Given the description of an element on the screen output the (x, y) to click on. 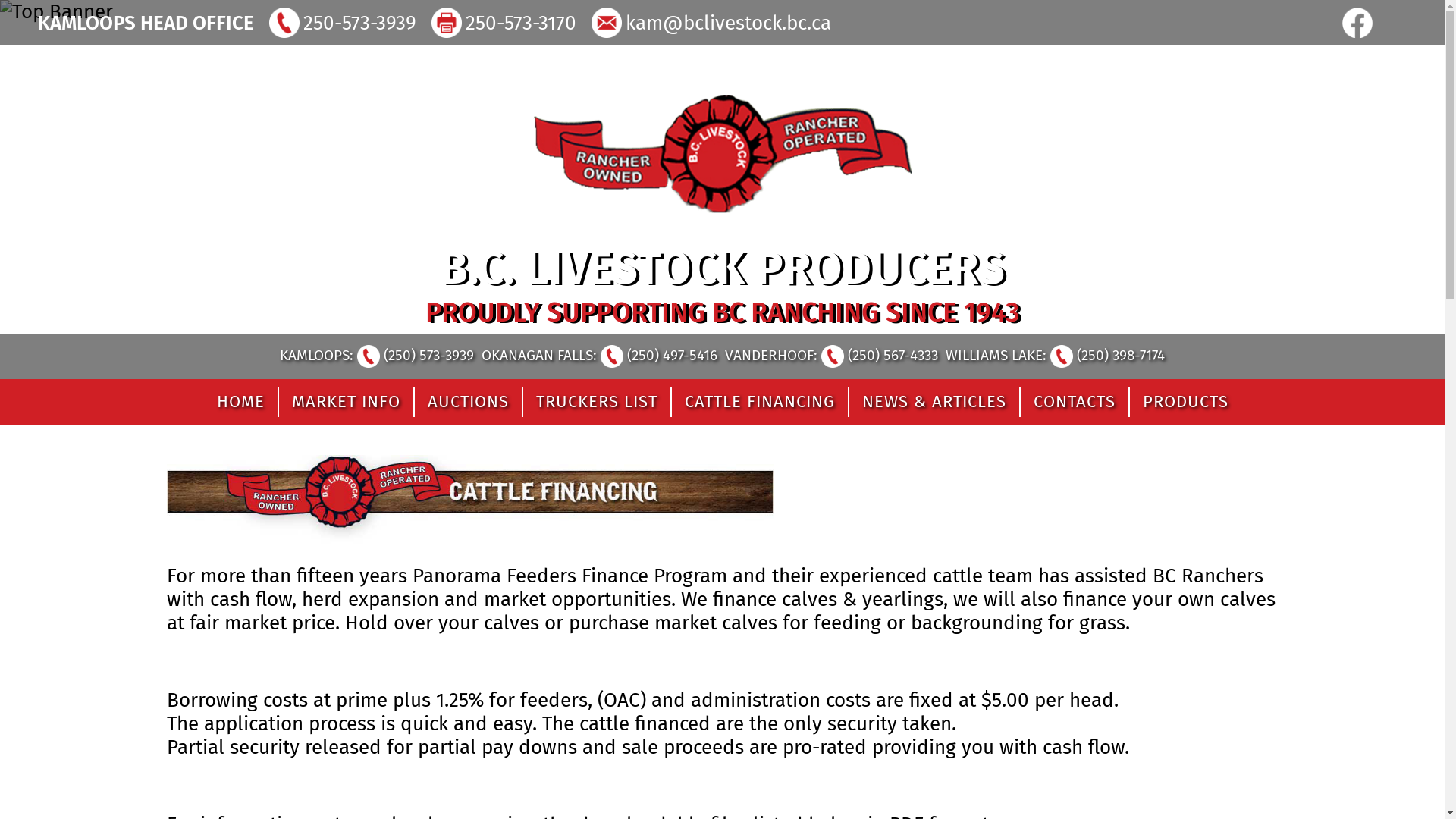
250-573-3939 Element type: text (357, 22)
MARKET INFO Element type: text (345, 401)
HOME Element type: text (239, 401)
(250) 573-3939 Element type: text (415, 355)
CATTLE FINANCING Element type: text (758, 401)
TRUCKERS LIST Element type: text (595, 401)
250-573-3170 Element type: text (518, 22)
kam@bclivestock.bc.ca Element type: text (726, 22)
(250) 398-7174 Element type: text (1107, 355)
(250) 567-4333 Element type: text (879, 355)
NEWS & ARTICLES Element type: text (933, 401)
CONTACTS Element type: text (1073, 401)
PRODUCTS Element type: text (1184, 401)
(250) 497-5416 Element type: text (658, 355)
